Given the description of an element on the screen output the (x, y) to click on. 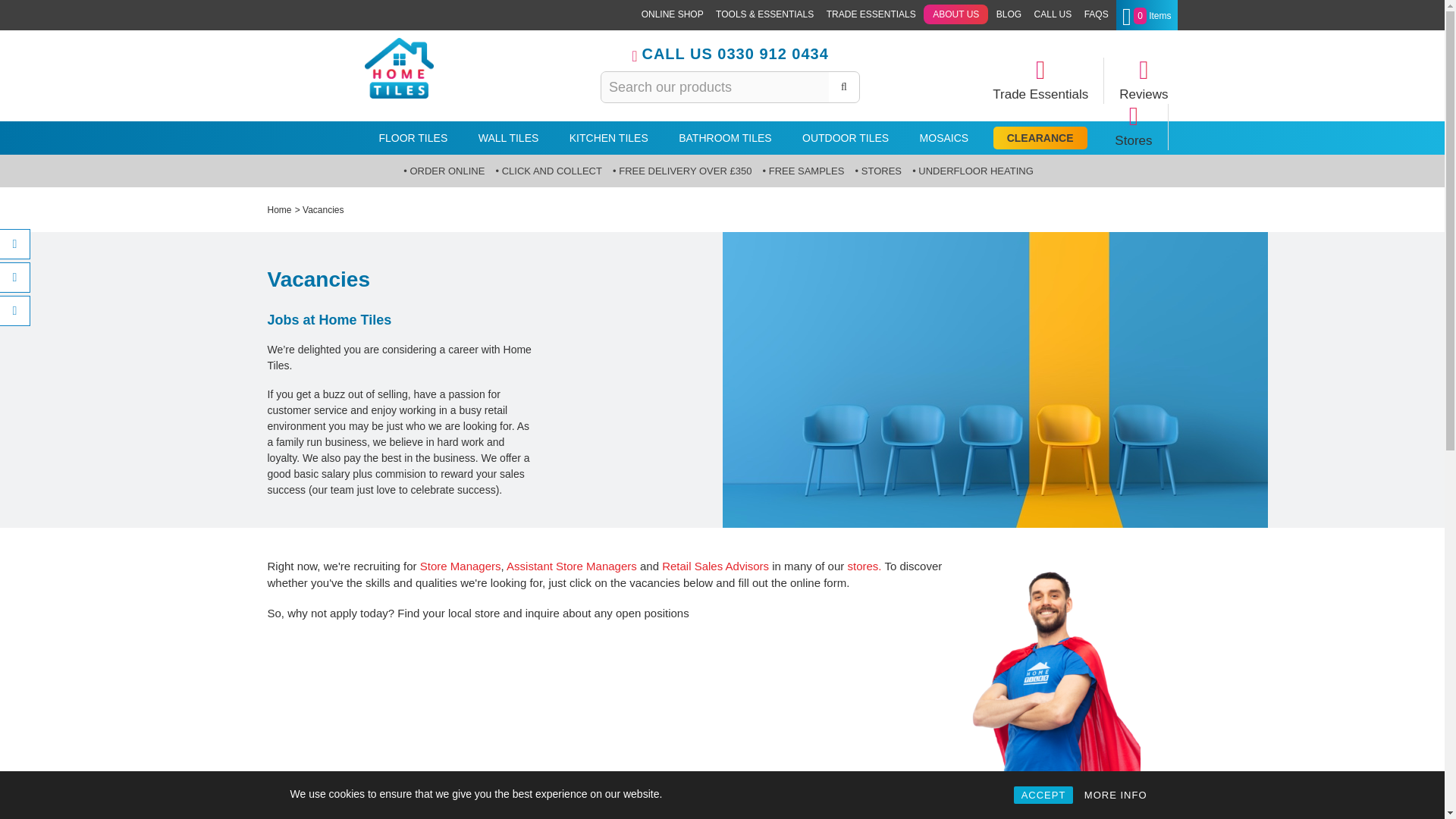
My Basket (1146, 15)
Home Tiles (398, 68)
MORE INFO (1115, 794)
ACCEPT (1043, 794)
